Given the description of an element on the screen output the (x, y) to click on. 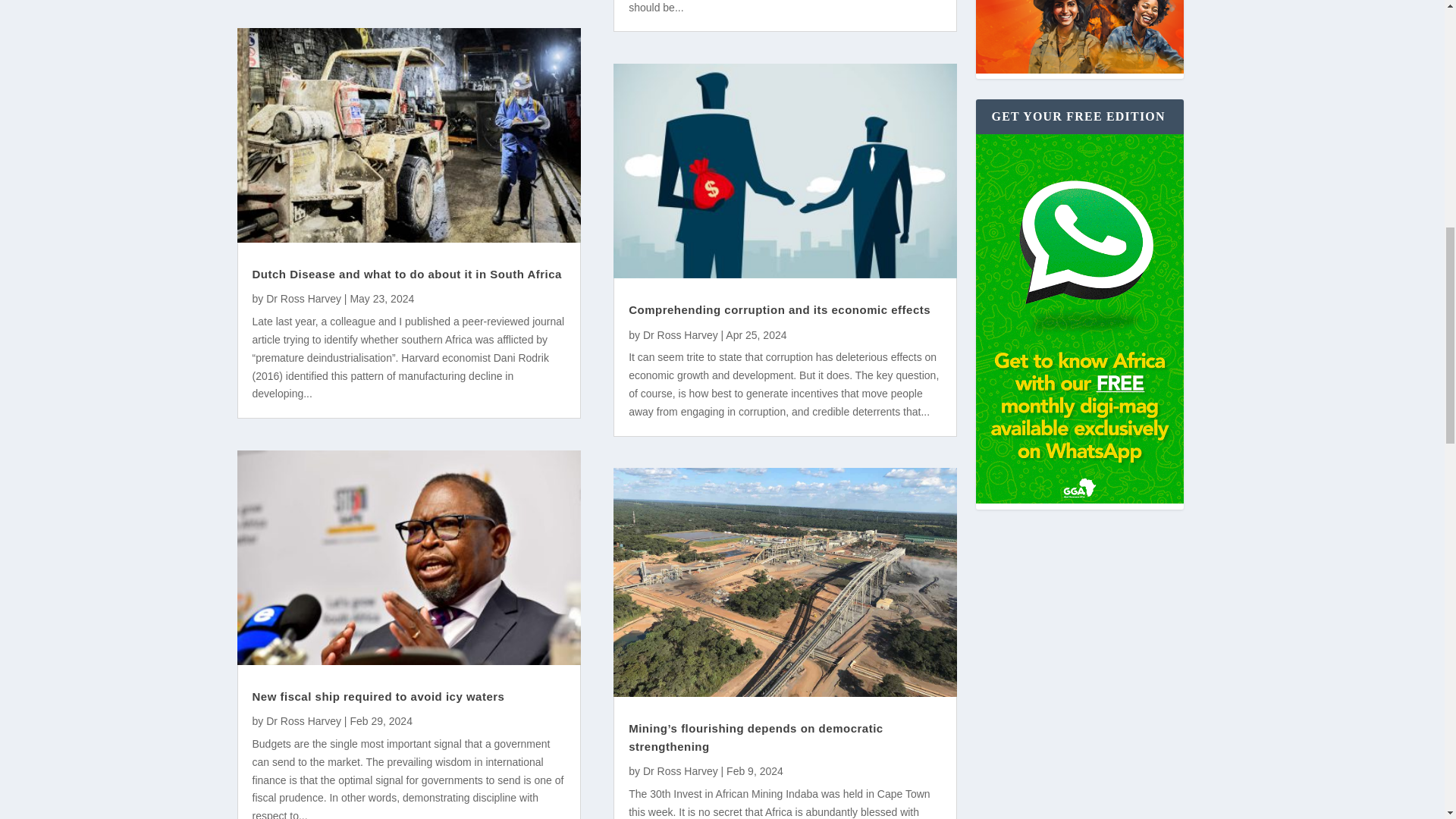
Upcoming Webinars (1079, 36)
